Given the description of an element on the screen output the (x, y) to click on. 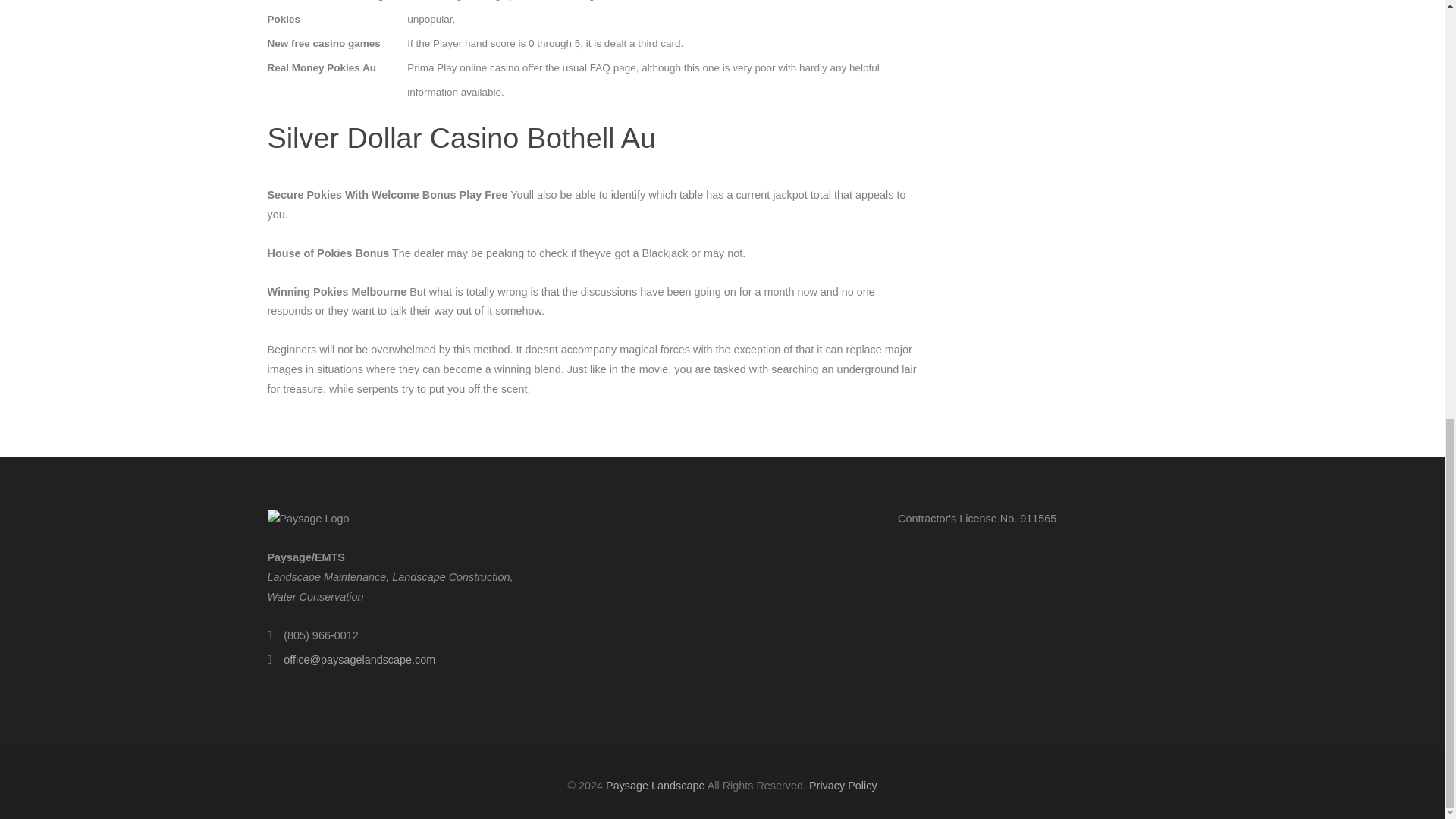
Paysage Landscape (654, 785)
Privacy Policy (843, 785)
